Given the description of an element on the screen output the (x, y) to click on. 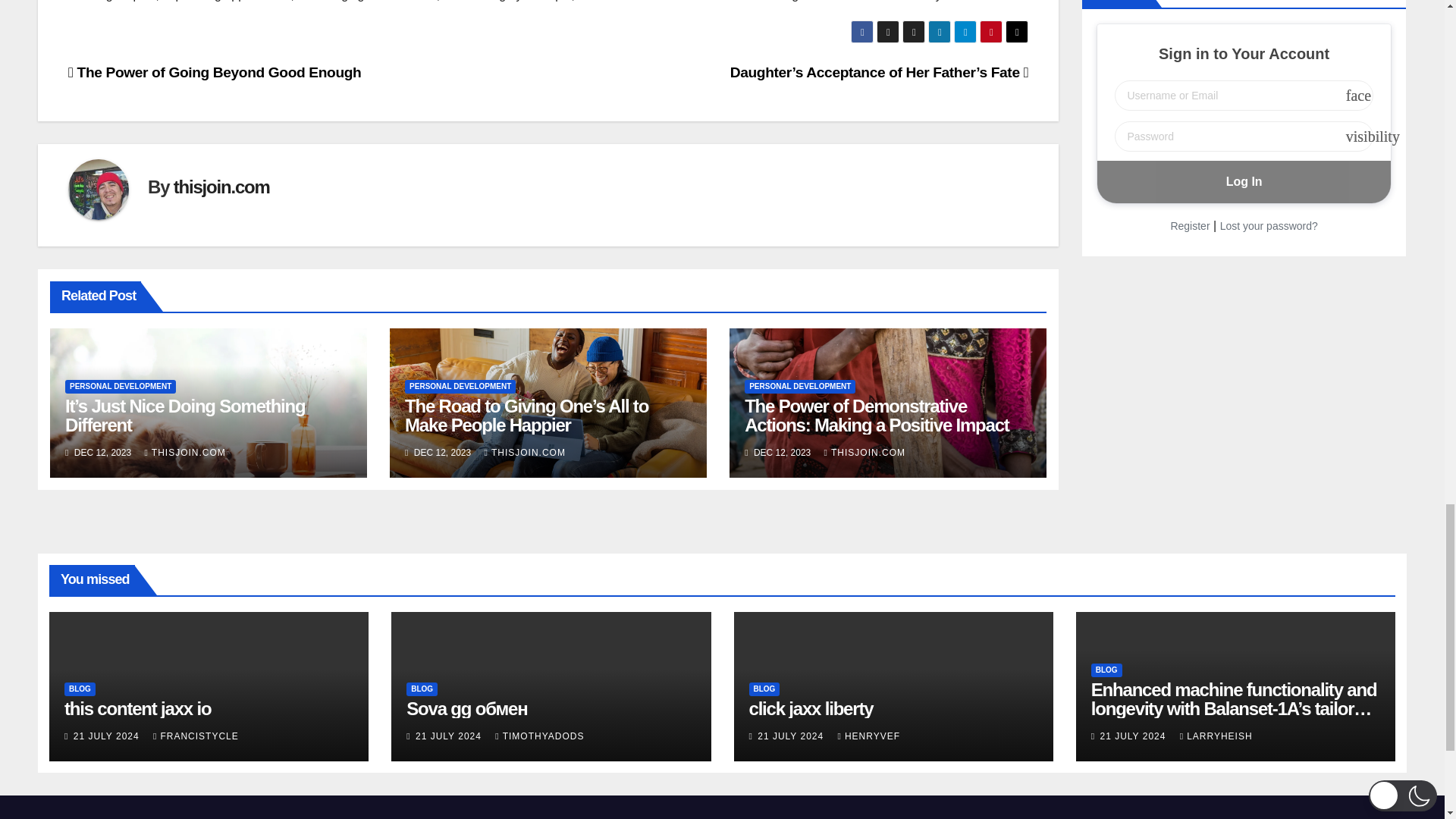
Log In (1243, 181)
thisjoin.com (221, 186)
The Power of Going Beyond Good Enough (214, 72)
